Given the description of an element on the screen output the (x, y) to click on. 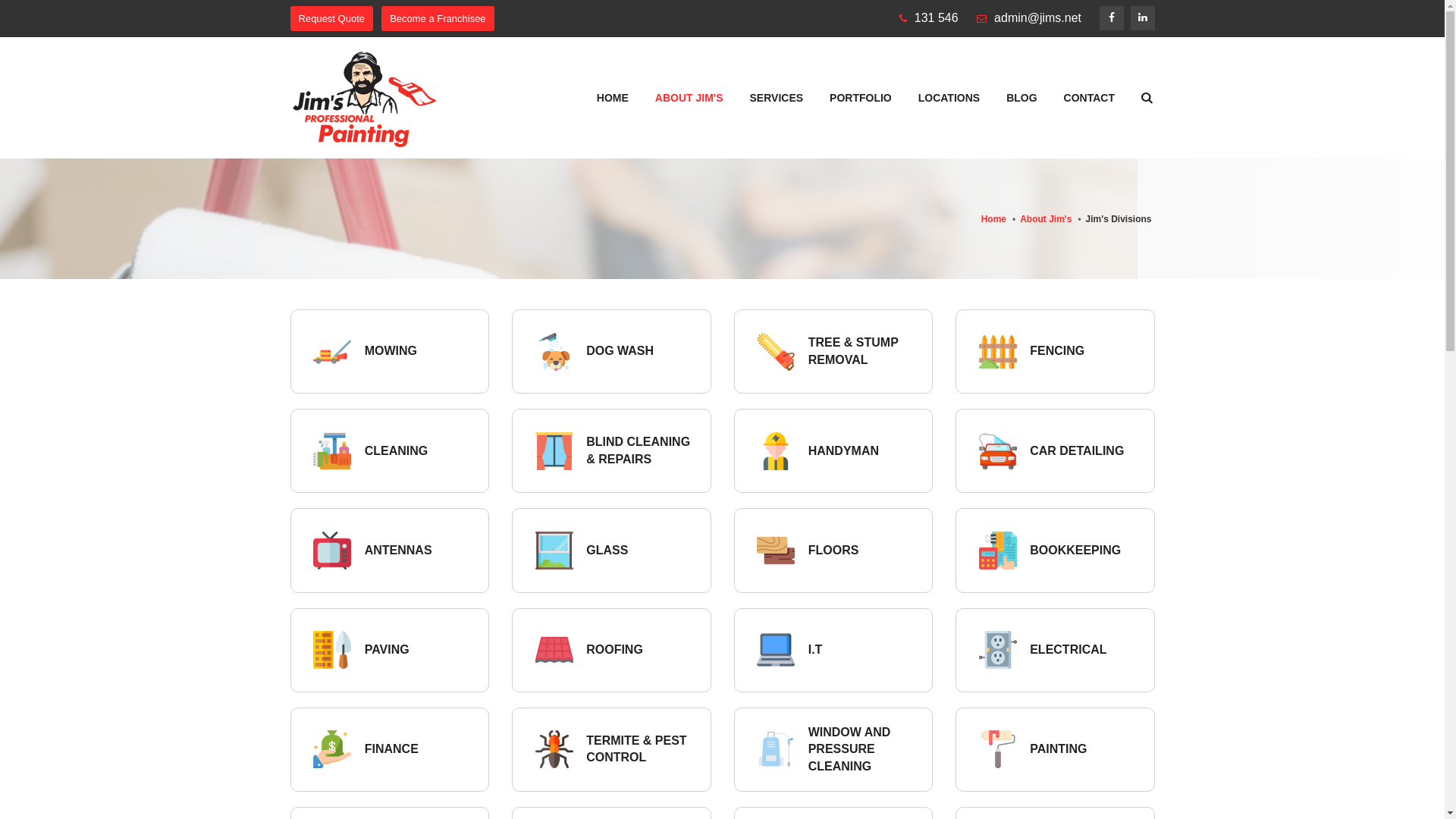
ROOFING Element type: text (614, 649)
ANTENNAS Element type: text (398, 549)
MOWING Element type: text (390, 350)
BLIND CLEANING & REPAIRS Element type: text (638, 449)
FINANCE Element type: text (391, 748)
ELECTRICAL Element type: text (1067, 649)
TREE & STUMP REMOVAL Element type: text (853, 350)
131 546 Element type: text (936, 17)
FLOORS Element type: text (833, 549)
CONTACT Element type: text (1088, 96)
DOG WASH Element type: text (619, 350)
SERVICES Element type: text (776, 96)
CAR DETAILING Element type: text (1076, 450)
CLEANING Element type: text (396, 450)
Request Quote Element type: text (331, 18)
BOOKKEEPING Element type: text (1074, 549)
BLOG Element type: text (1021, 96)
Home Element type: text (993, 218)
PORTFOLIO Element type: text (860, 96)
WINDOW AND PRESSURE CLEANING Element type: text (849, 748)
ABOUT JIM'S Element type: text (688, 96)
I.T Element type: text (815, 649)
GLASS Element type: text (606, 549)
PAVING Element type: text (386, 649)
PAINTING Element type: text (1057, 748)
Become a Franchisee Element type: text (437, 18)
About Jim's Element type: text (1045, 218)
HOME Element type: text (612, 96)
TERMITE & PEST CONTROL Element type: text (636, 748)
HANDYMAN Element type: text (843, 450)
LOCATIONS Element type: text (948, 96)
FENCING Element type: text (1056, 350)
